Given the description of an element on the screen output the (x, y) to click on. 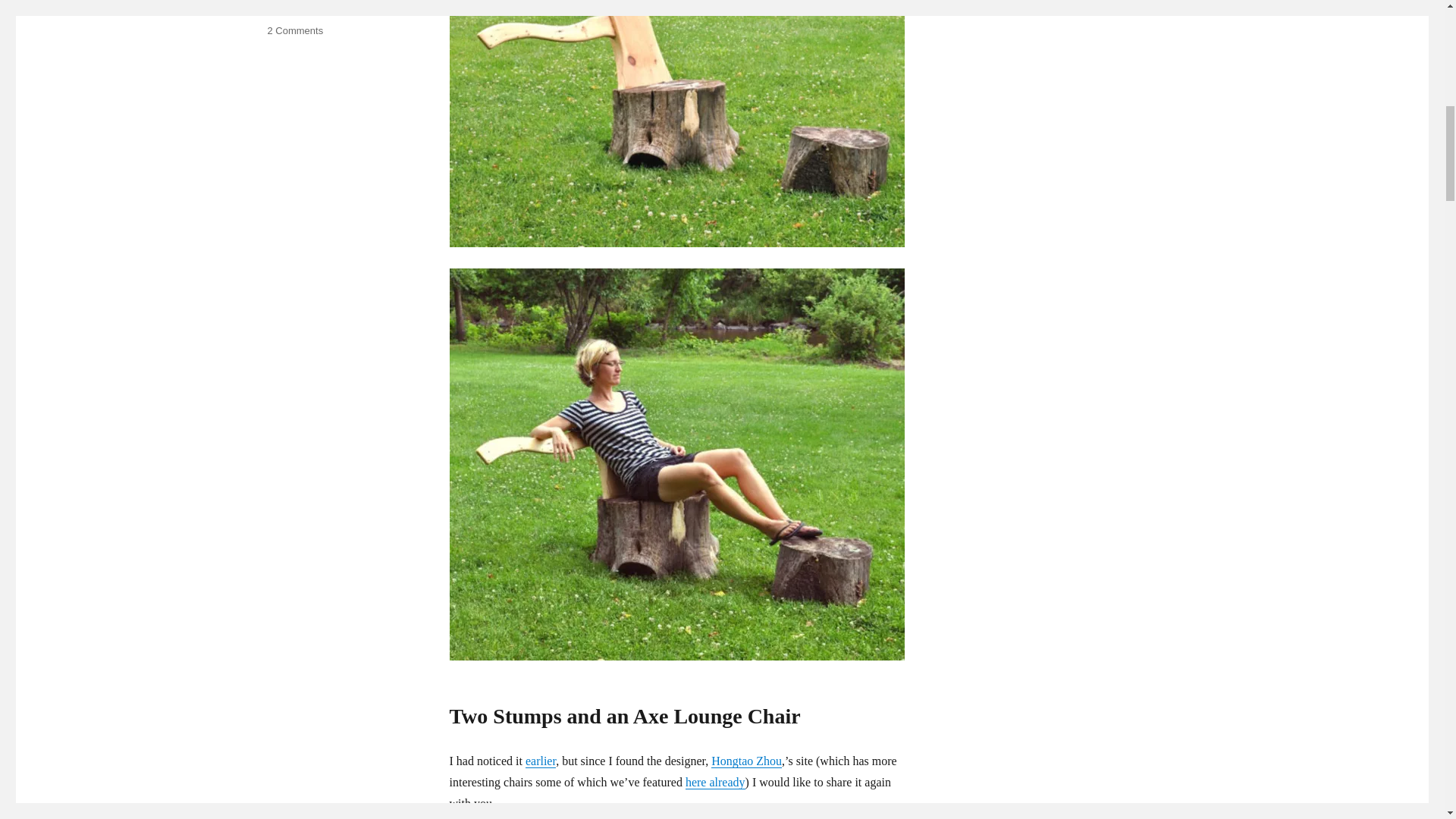
Two-Axes-and-a-Stump-Chair (676, 123)
earlier (540, 760)
Hongtao Zhou (297, 9)
here already (715, 781)
Hongtao Zhou (746, 760)
